Given the description of an element on the screen output the (x, y) to click on. 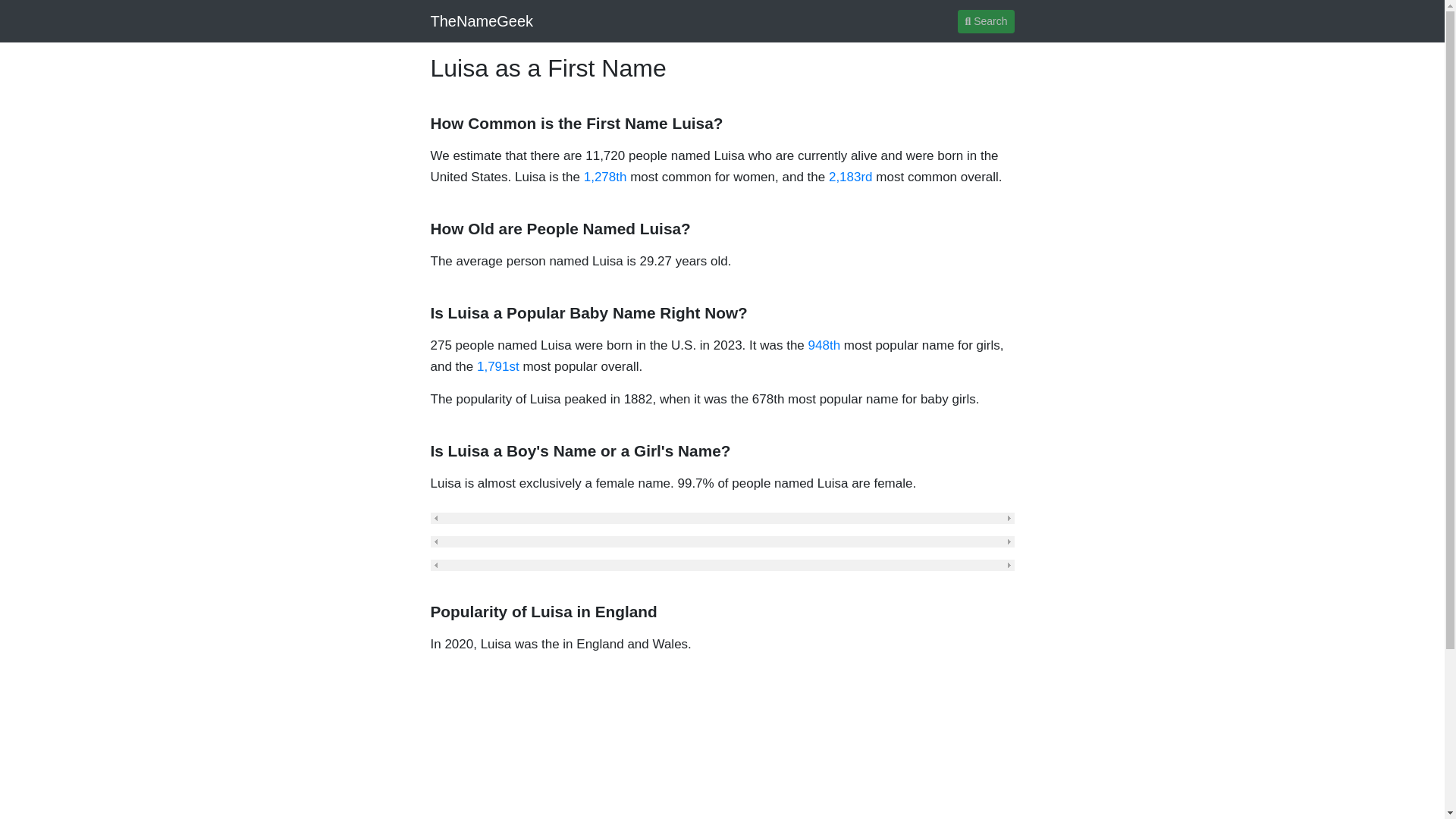
TheNameGeek (482, 20)
1,791st (498, 366)
948th (824, 345)
1,278th (605, 176)
2,183rd (850, 176)
Search (985, 20)
